Given the description of an element on the screen output the (x, y) to click on. 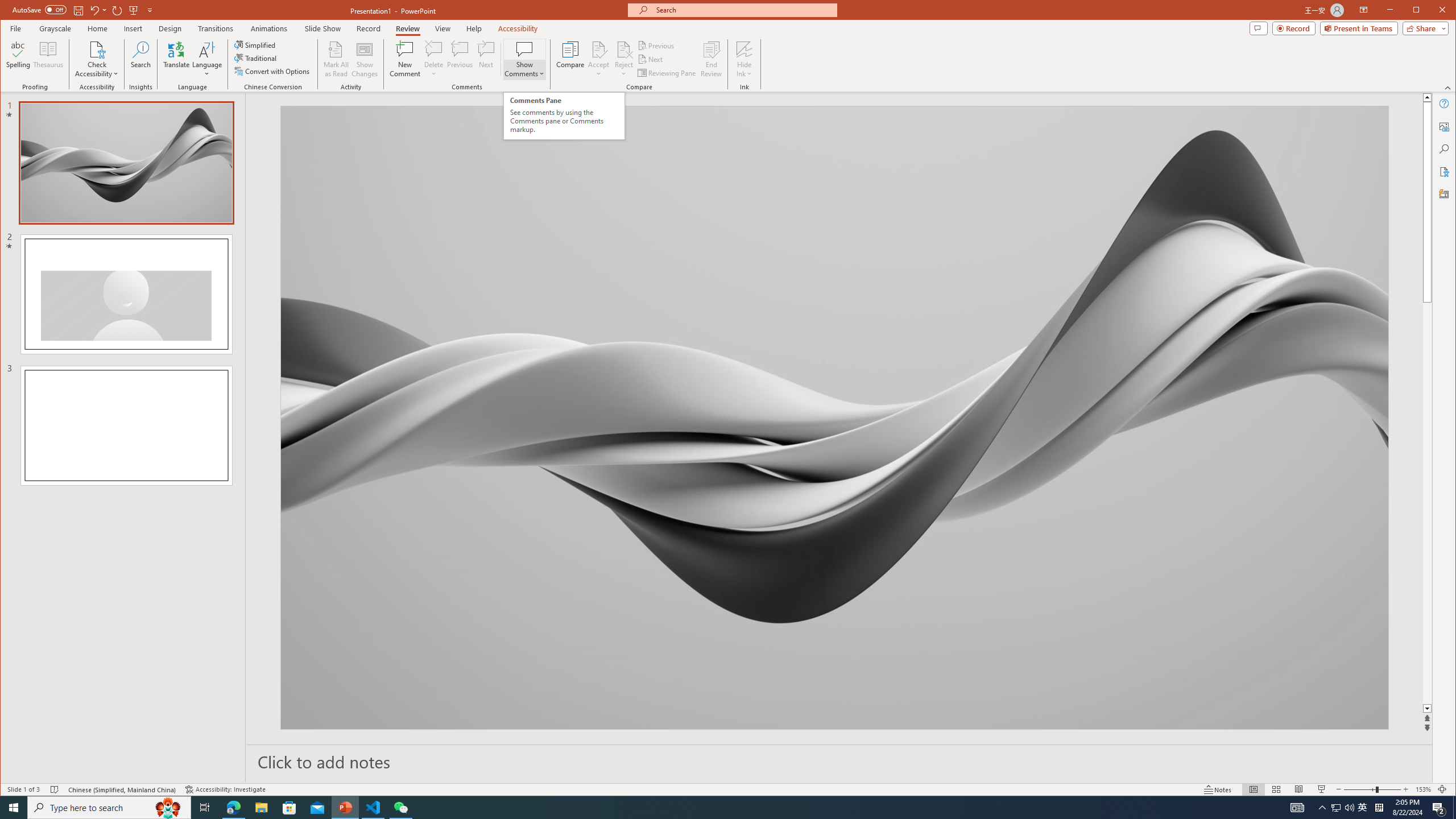
Spelling... (18, 59)
Accept (598, 59)
Start (13, 807)
Delete (433, 48)
Mark All as Read (335, 59)
Accept Change (598, 48)
Reject Change (623, 48)
Visual Studio Code - 1 running window (373, 807)
